Given the description of an element on the screen output the (x, y) to click on. 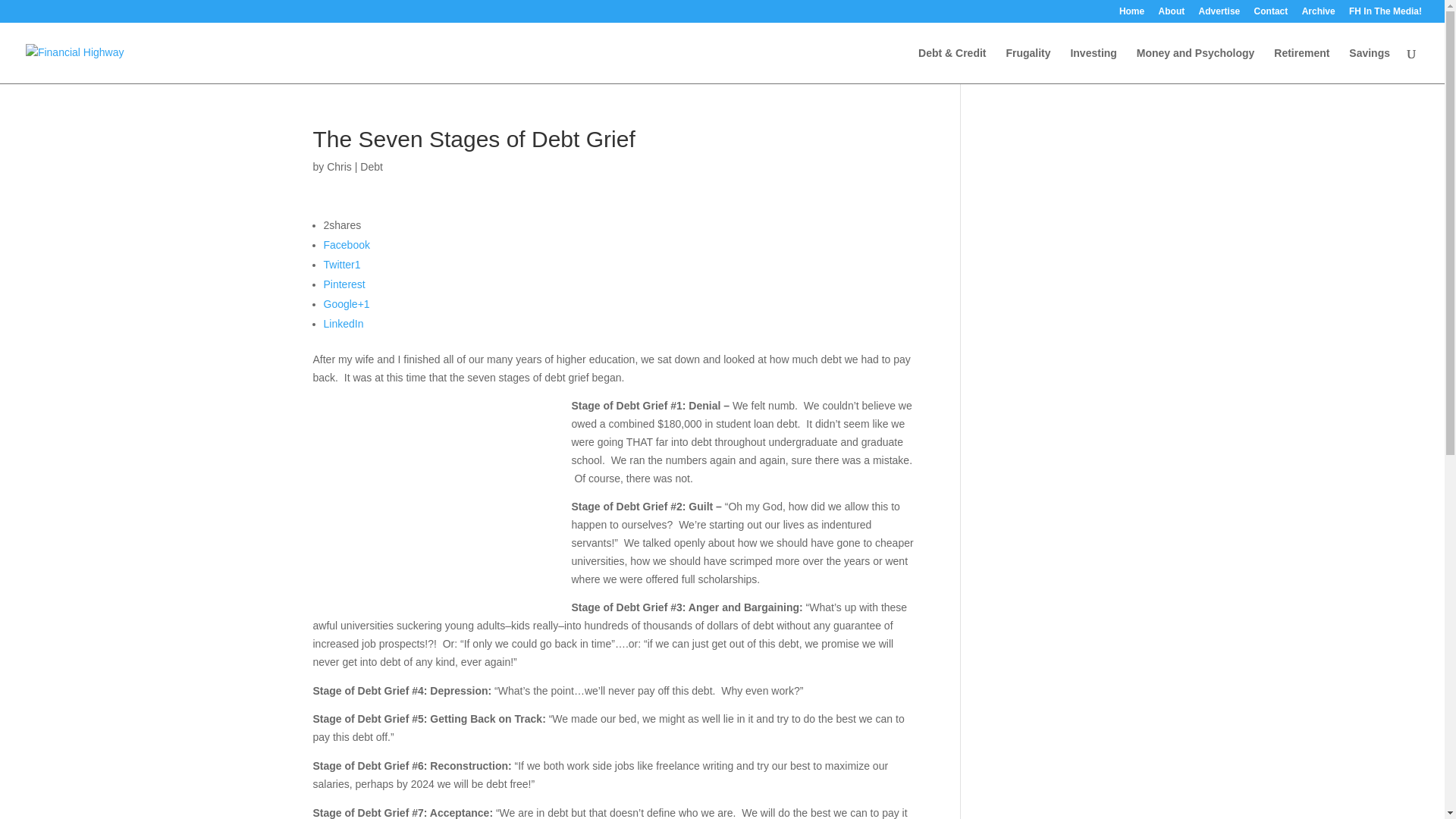
Retirement (1301, 65)
Advertise (1219, 14)
LinkedIn (342, 323)
Debt (370, 166)
Archive (1318, 14)
Pinterest (344, 284)
Investing (1093, 65)
Twitter1 (341, 264)
Facebook (346, 244)
Posts by Chris (339, 166)
